Given the description of an element on the screen output the (x, y) to click on. 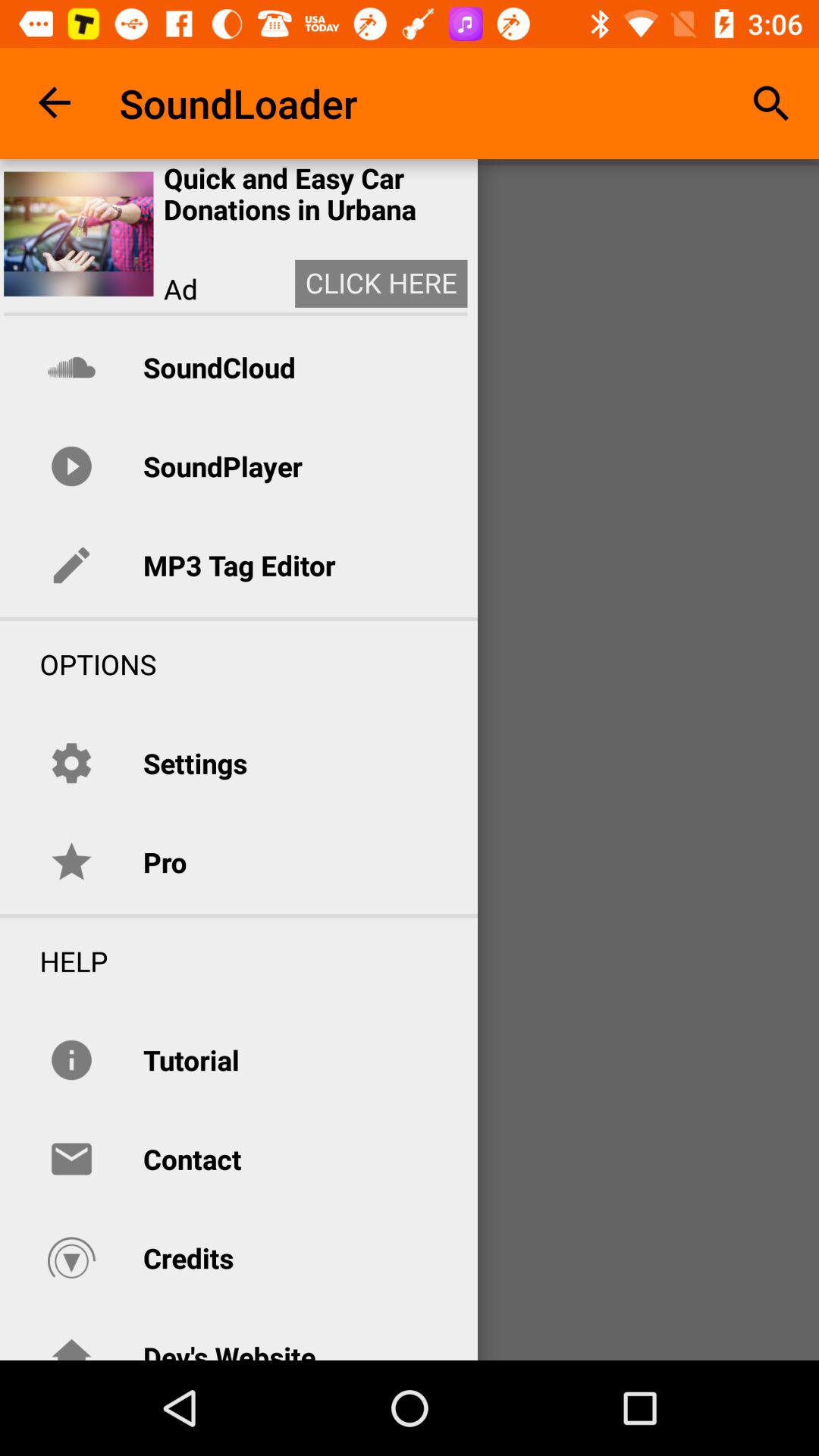
click settings icon (195, 763)
